Given the description of an element on the screen output the (x, y) to click on. 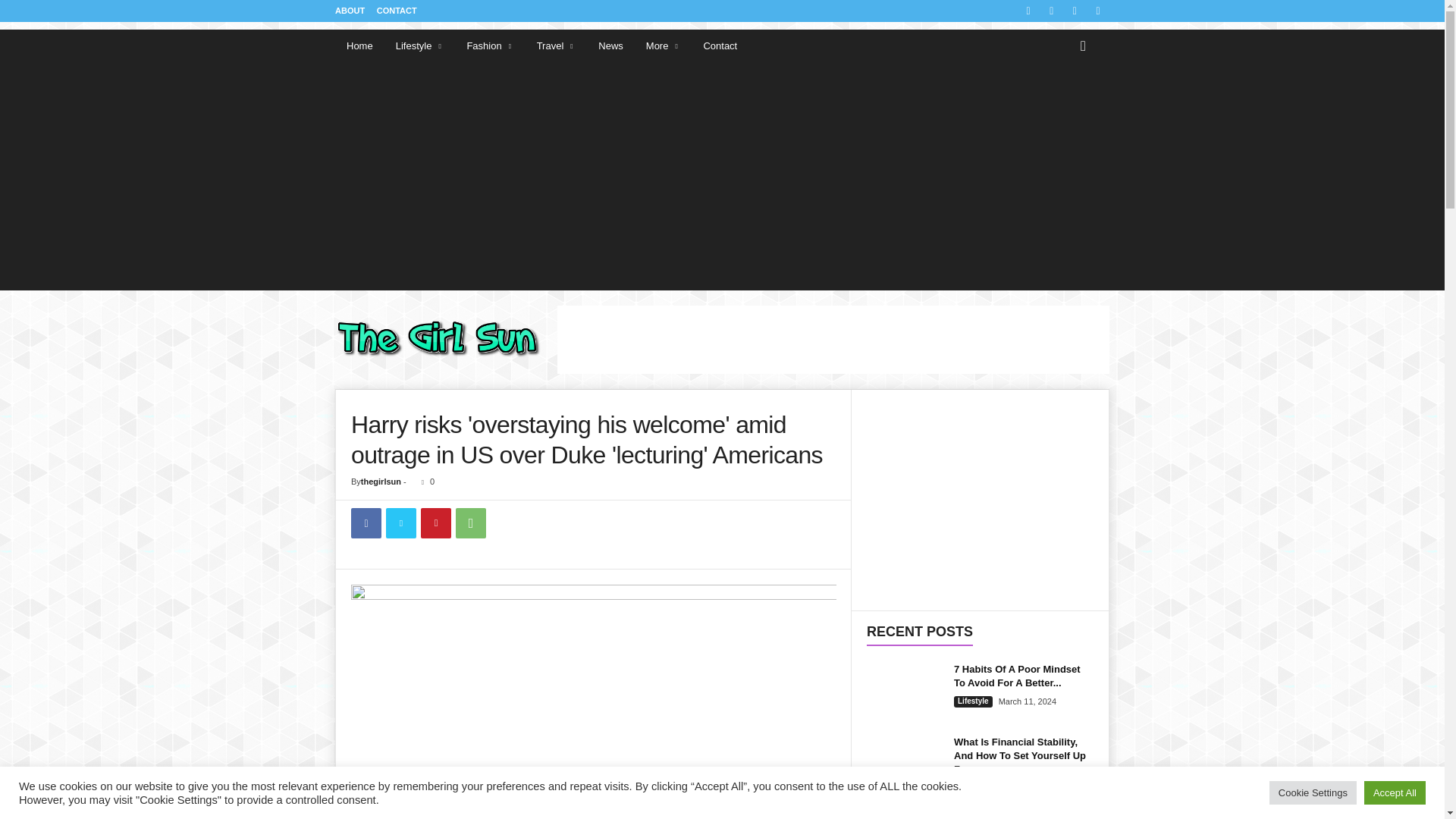
Home (359, 46)
ABOUT (349, 10)
Lifestyle (419, 46)
CONTACT (396, 10)
